Given the description of an element on the screen output the (x, y) to click on. 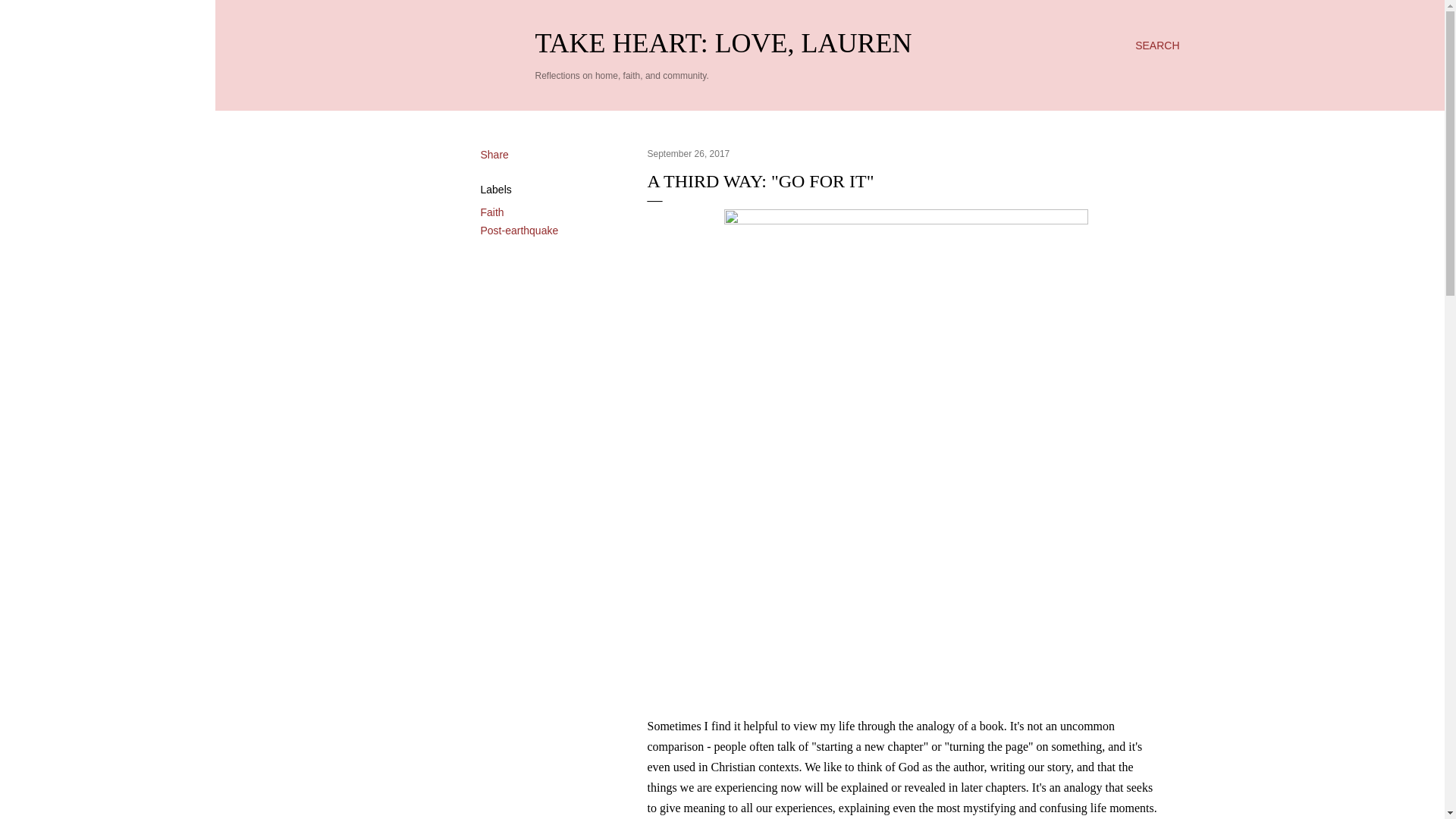
TAKE HEART: LOVE, LAUREN (723, 42)
Faith (491, 212)
permanent link (688, 153)
September 26, 2017 (688, 153)
Post-earthquake (519, 230)
Share (494, 154)
SEARCH (1157, 45)
